Given the description of an element on the screen output the (x, y) to click on. 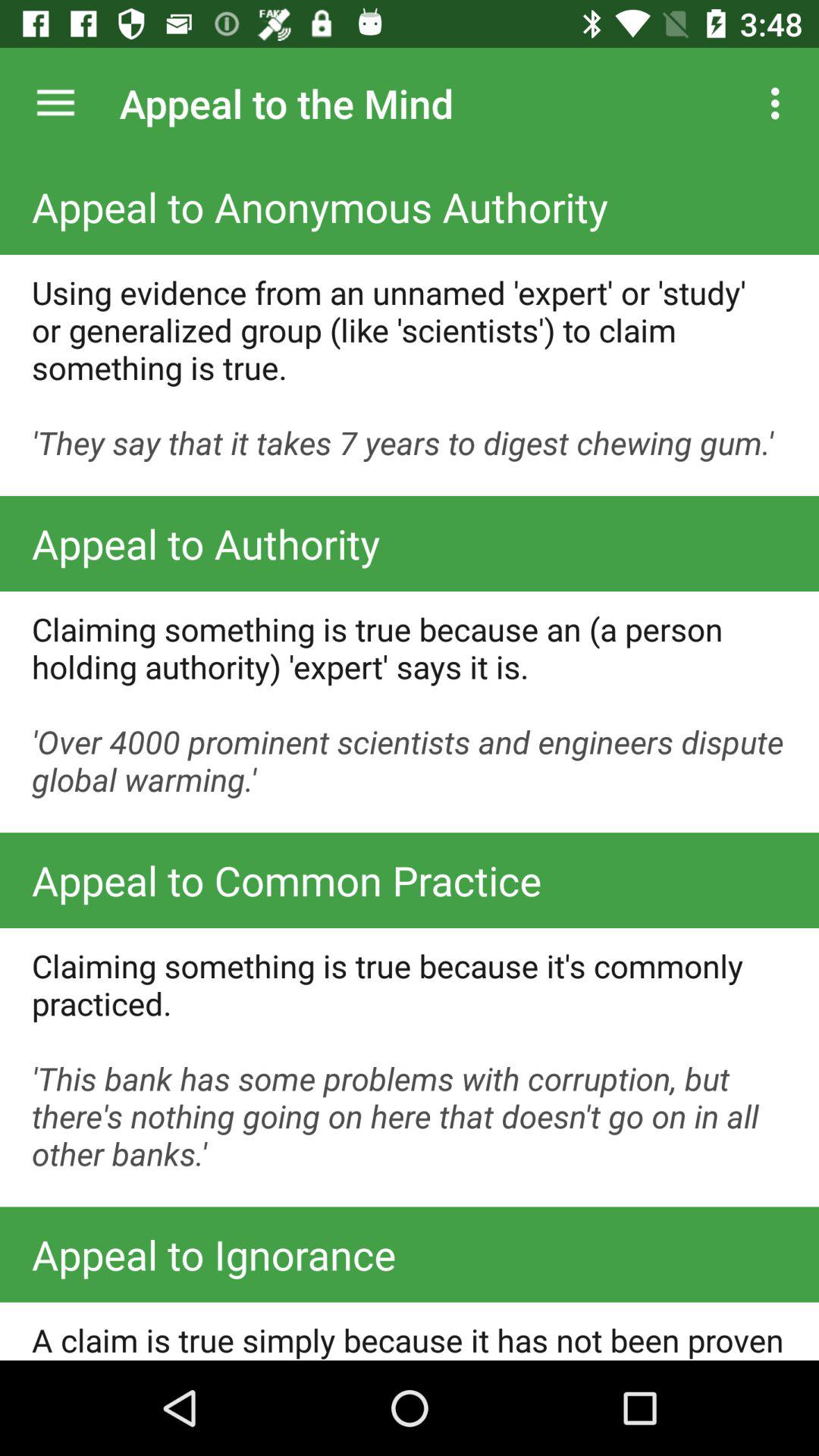
tap the item next to the appeal to the icon (779, 103)
